Given the description of an element on the screen output the (x, y) to click on. 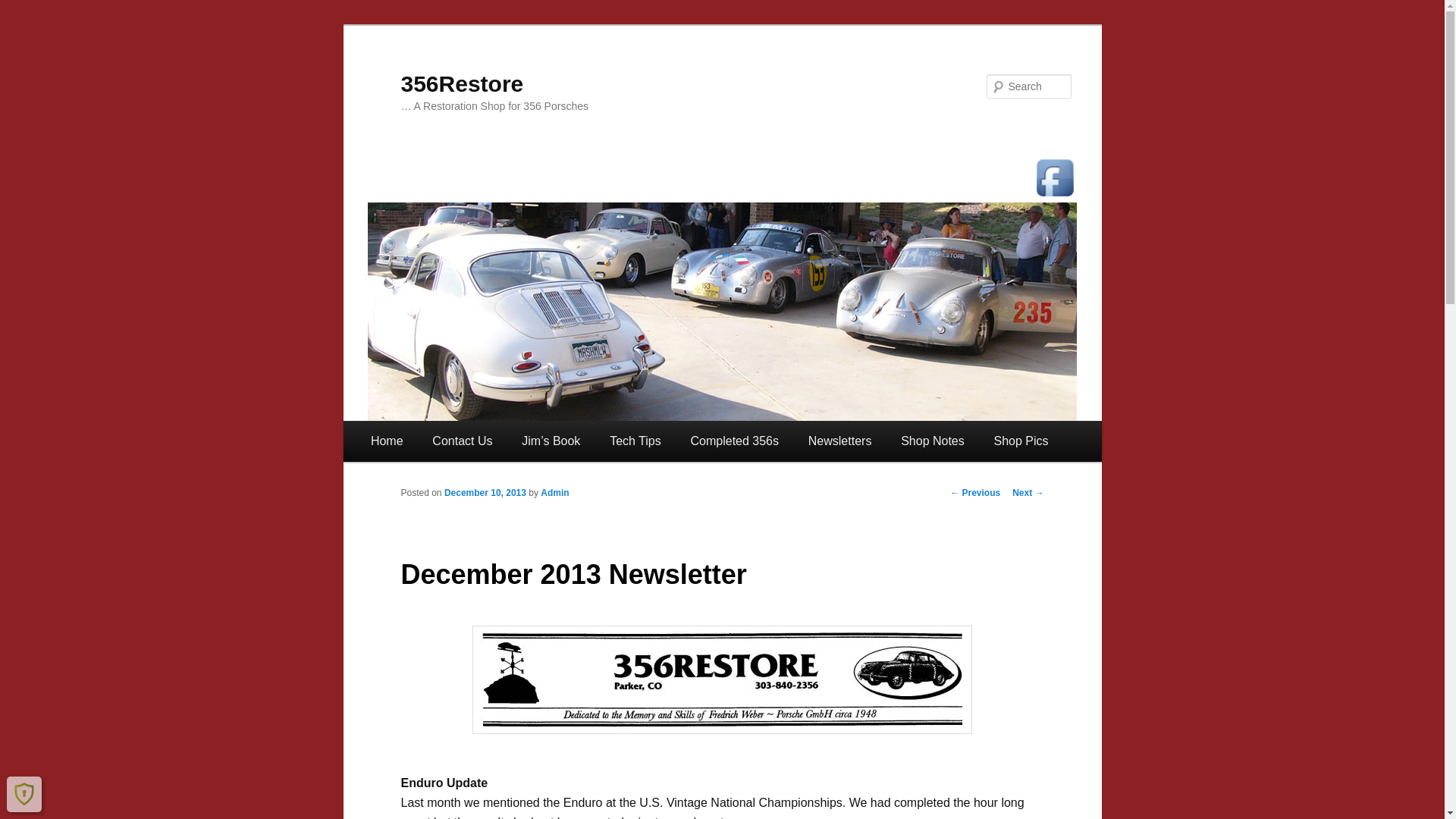
Completed 356s (734, 440)
Shield Security (23, 793)
Contact Us (461, 440)
Home (386, 440)
Search (25, 9)
Visit Us On Facebook (1053, 177)
Newsletters (839, 440)
Tech Tips (635, 440)
9:29 am (484, 492)
356Restore (461, 83)
View all posts by Admin (554, 492)
